Given the description of an element on the screen output the (x, y) to click on. 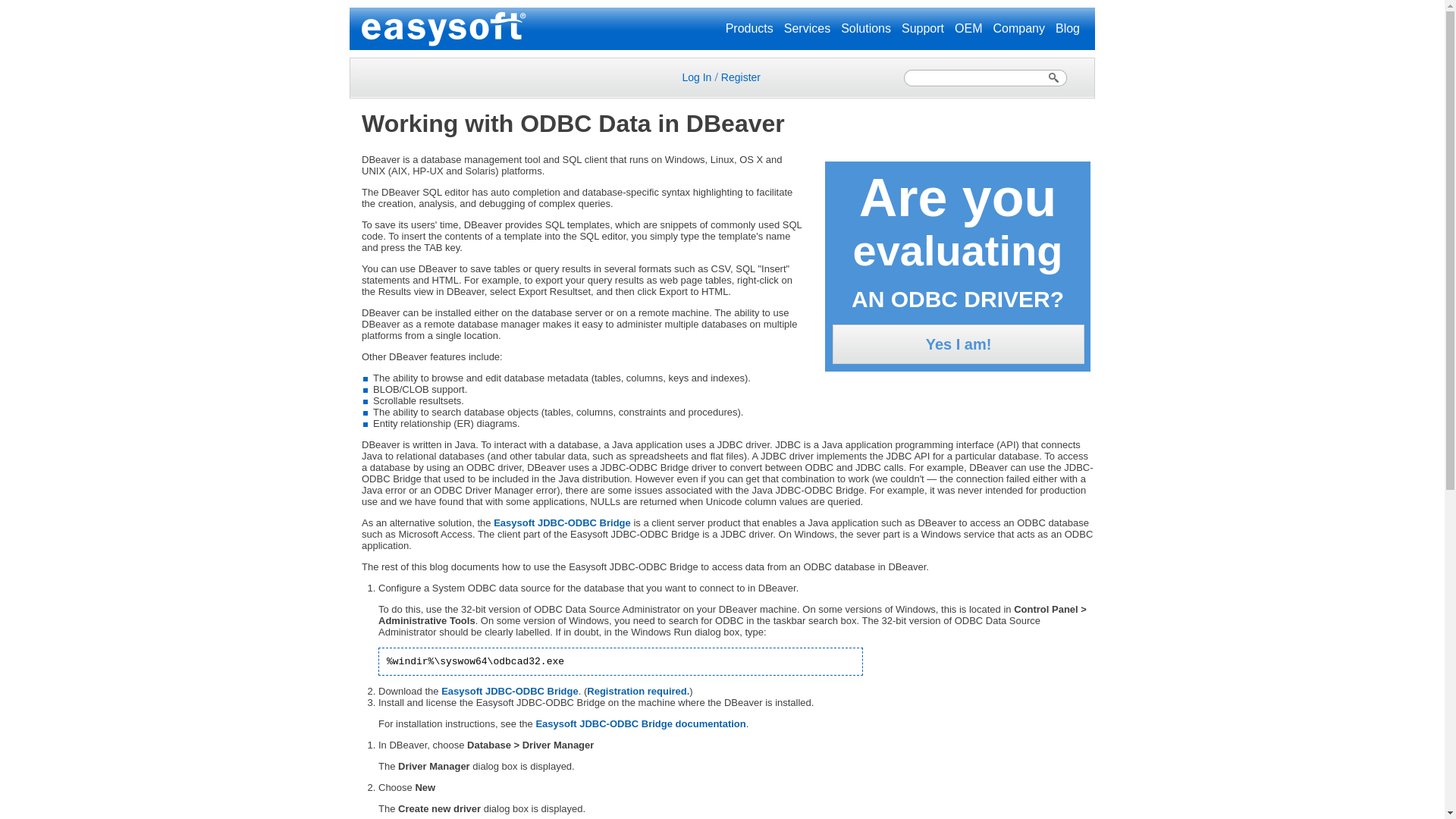
OEM (968, 28)
Registration required. (637, 690)
Log In (696, 77)
Support (922, 28)
Register (740, 77)
Easysoft JDBC-ODBC Bridge documentation (640, 723)
Company (1017, 28)
Blog (1067, 28)
Services (806, 28)
Easysoft JDBC-ODBC Bridge (561, 522)
Easysoft JDBC-ODBC Bridge (509, 690)
Solutions (866, 28)
Products (749, 28)
Yes I am! (958, 343)
